Given the description of an element on the screen output the (x, y) to click on. 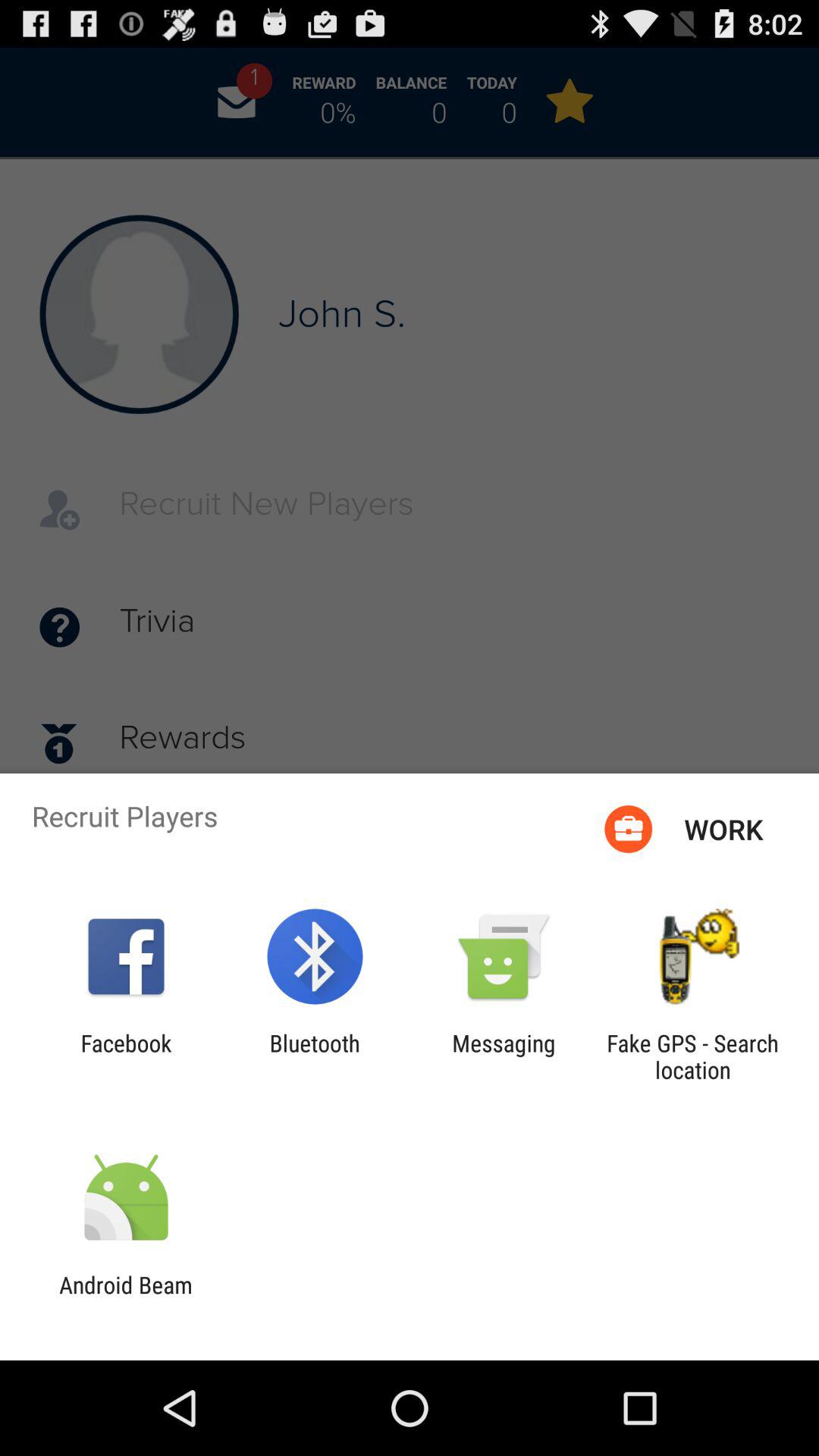
click messaging (503, 1056)
